Given the description of an element on the screen output the (x, y) to click on. 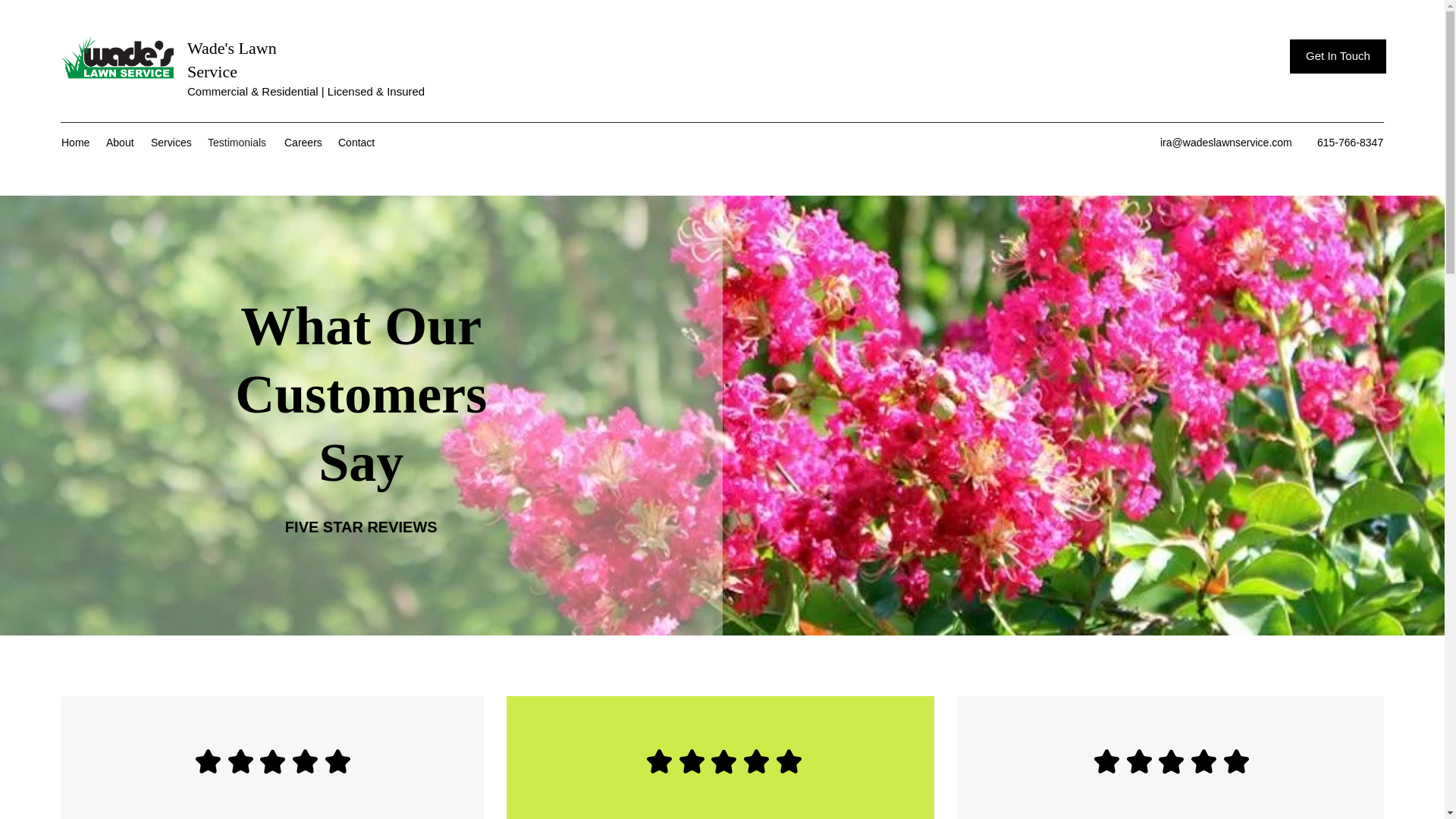
Get In Touch (1338, 56)
Contact (357, 142)
Wade's Lawn Service (231, 59)
Careers (303, 142)
Services (171, 142)
About (120, 142)
Testimonials (238, 142)
Home (76, 142)
